Given the description of an element on the screen output the (x, y) to click on. 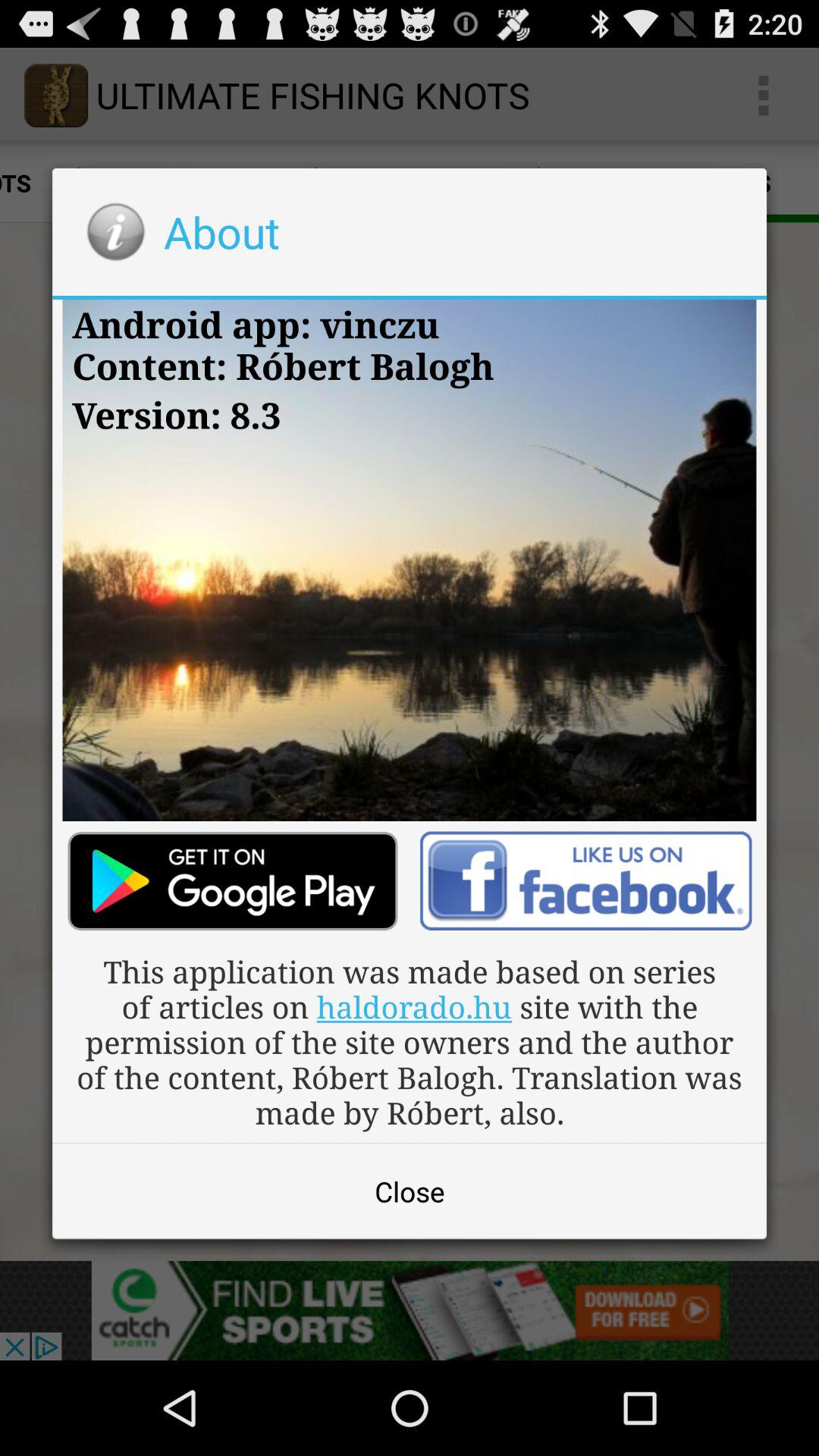
turn on the icon below the this application was item (409, 1191)
